Given the description of an element on the screen output the (x, y) to click on. 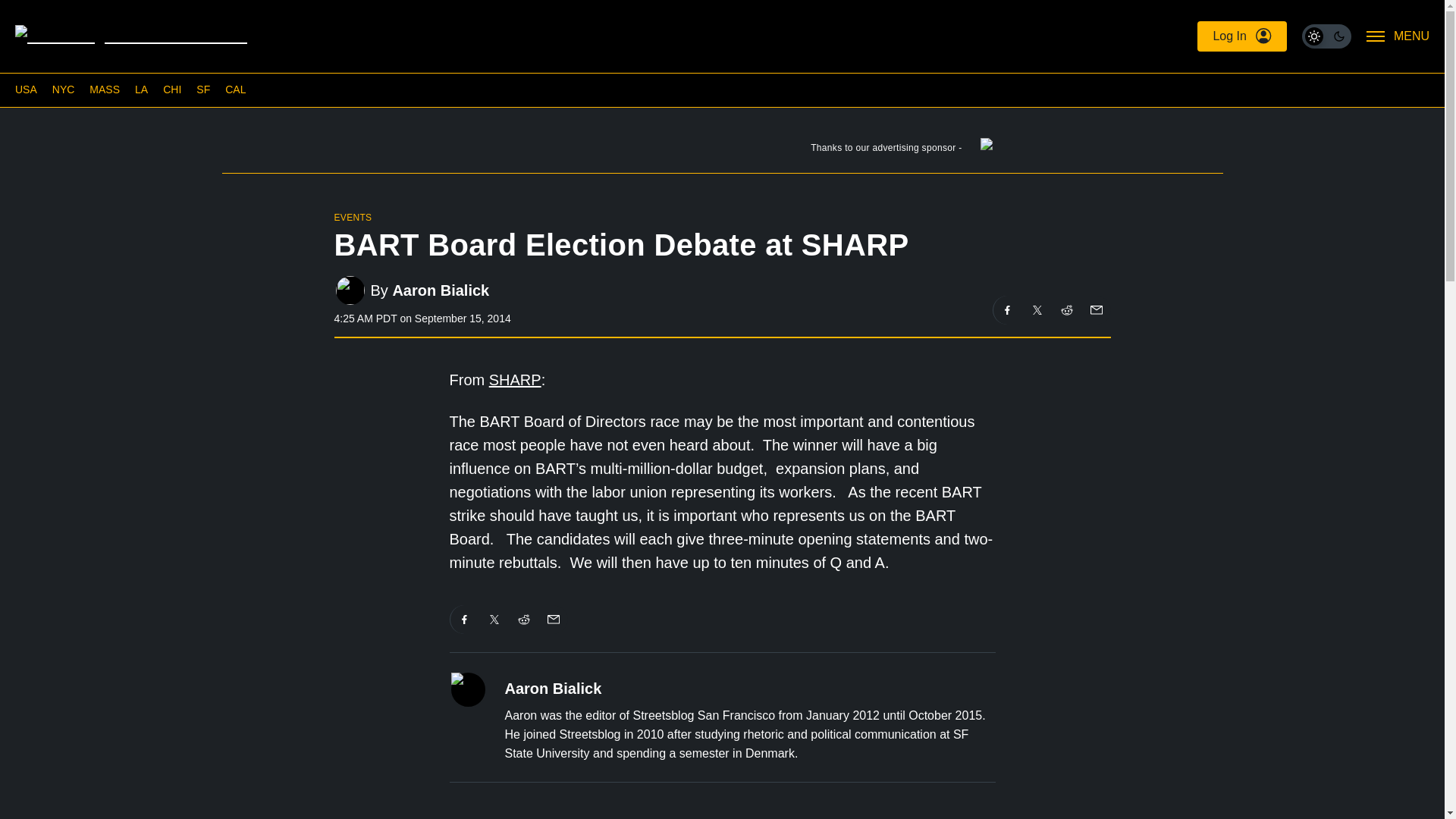
Log In (1240, 36)
NYC (63, 89)
CHI (171, 89)
Thanks to our advertising sponsor - (721, 150)
Aaron Bialick (440, 290)
CAL (235, 89)
Share on Facebook (1007, 309)
MENU (1398, 36)
Share on Email (1095, 309)
Share on Reddit (523, 619)
